Given the description of an element on the screen output the (x, y) to click on. 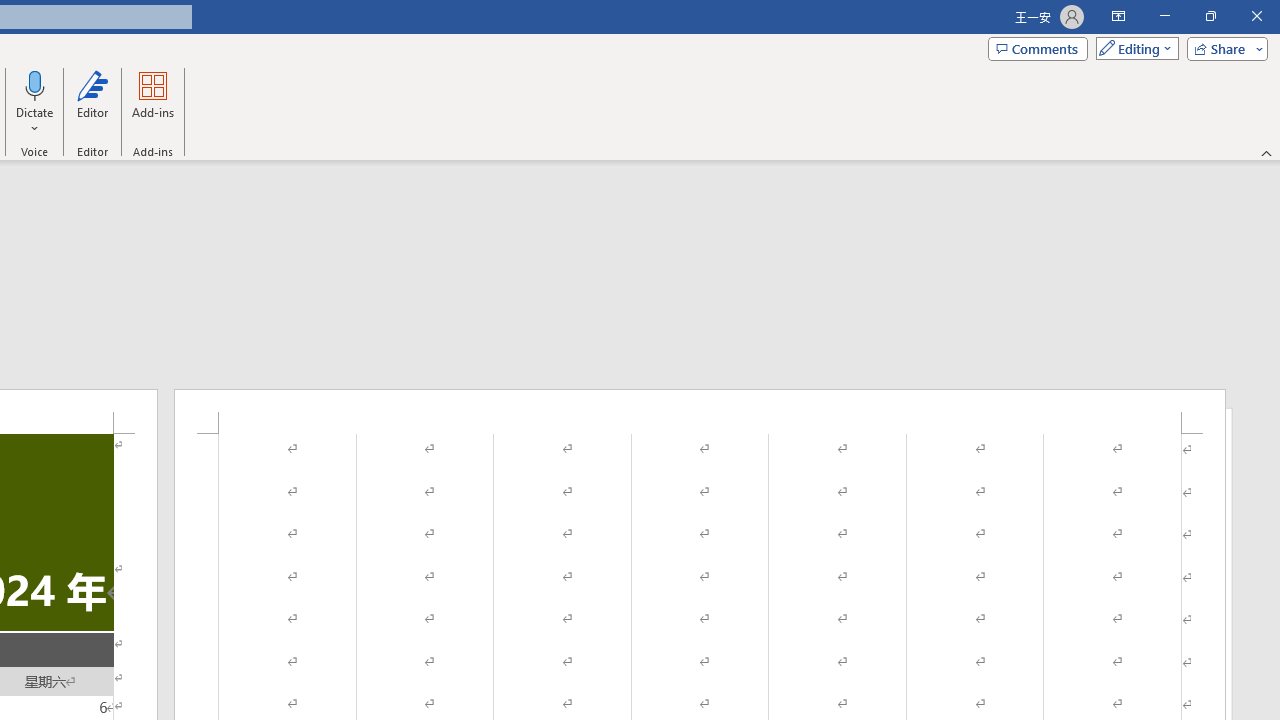
Collapse the Ribbon (1267, 152)
